Given the description of an element on the screen output the (x, y) to click on. 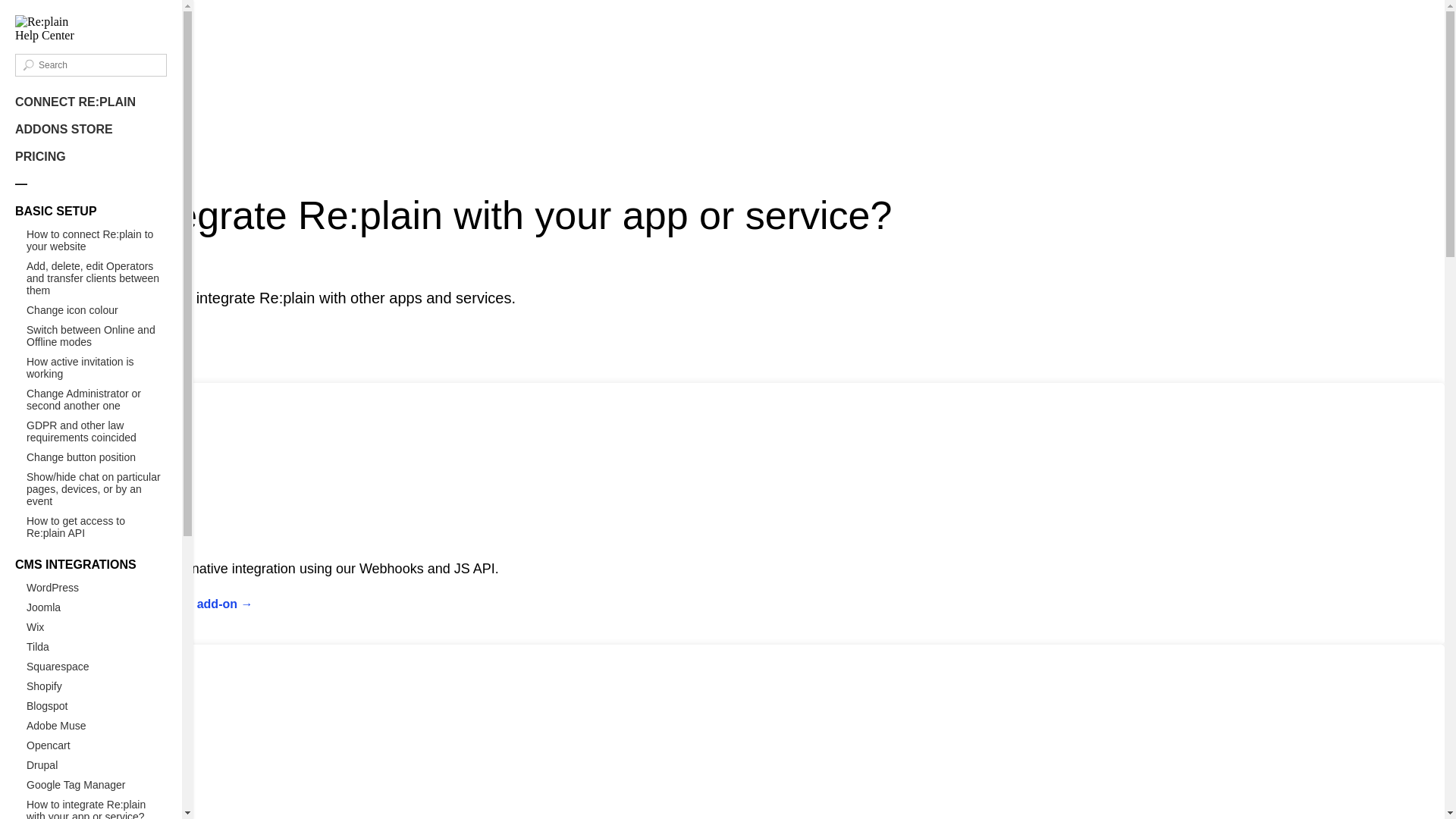
Tilda Element type: text (96, 646)
Opencart Element type: text (96, 745)
How to connect Re:plain to your website Element type: text (96, 240)
Google Tag Manager Element type: text (96, 784)
Change icon colour Element type: text (96, 310)
Drupal Element type: text (96, 765)
How active invitation is working Element type: text (96, 367)
PRICING Element type: text (40, 156)
Blogspot Element type: text (96, 705)
Show/hide chat on particular pages, devices, or by an event Element type: text (96, 488)
GDPR and other law requirements coincided Element type: text (96, 431)
How to get access to Re:plain API Element type: text (96, 526)
ADDONS STORE Element type: text (63, 128)
Squarespace Element type: text (96, 666)
Change button position Element type: text (96, 457)
WordPress Element type: text (96, 587)
Wix Element type: text (96, 627)
CONNECT RE:PLAIN Element type: text (75, 101)
Shopify Element type: text (96, 686)
Change Administrator or second another one Element type: text (96, 399)
Joomla Element type: text (96, 607)
Adobe Muse Element type: text (96, 725)
Switch between Online and Offline modes Element type: text (96, 335)
